Given the description of an element on the screen output the (x, y) to click on. 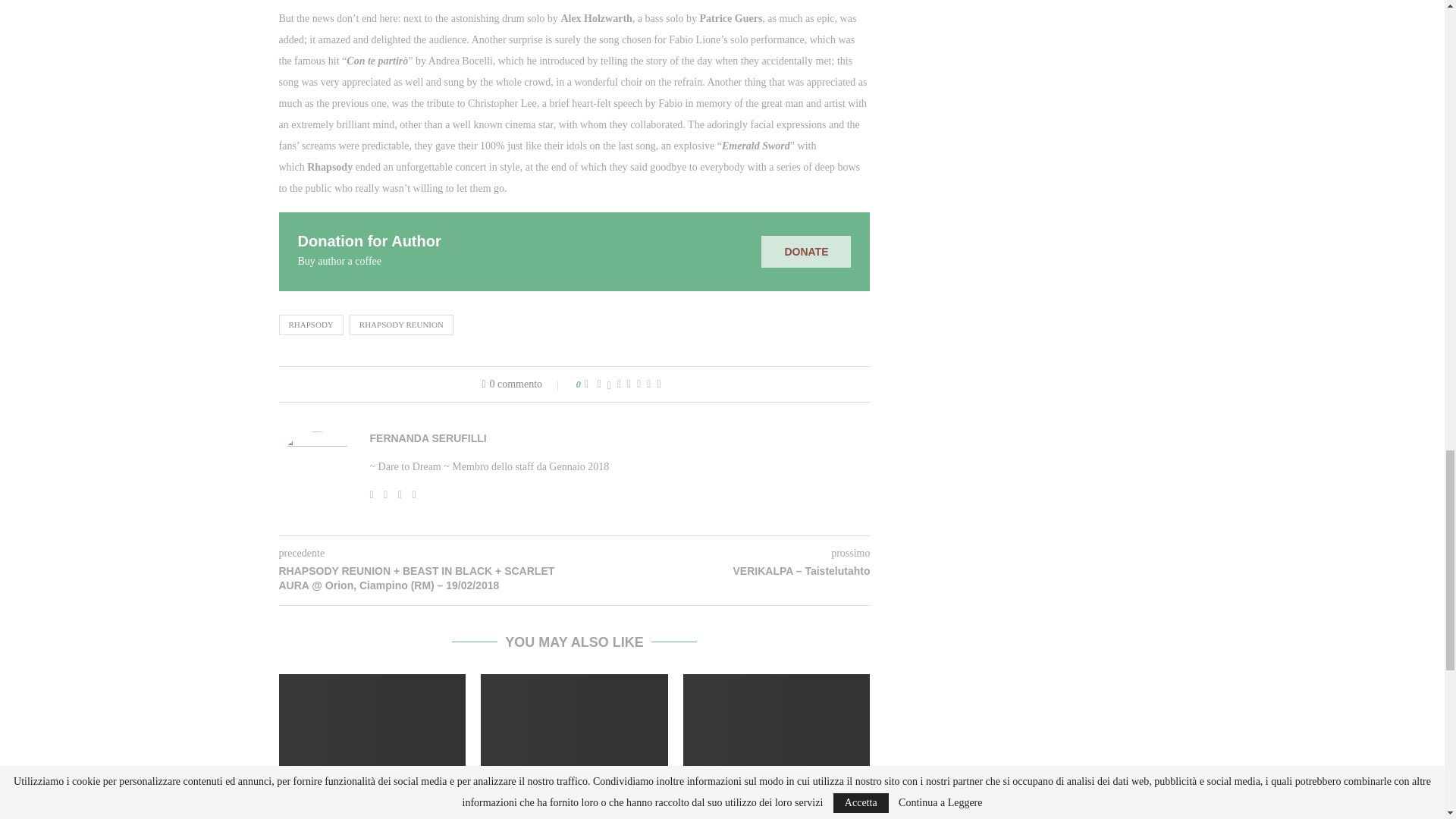
DONATE (805, 251)
Author Fernanda Serufilli (427, 438)
RHAPSODY (311, 324)
RHAPSODY REUNION (400, 324)
